Given the description of an element on the screen output the (x, y) to click on. 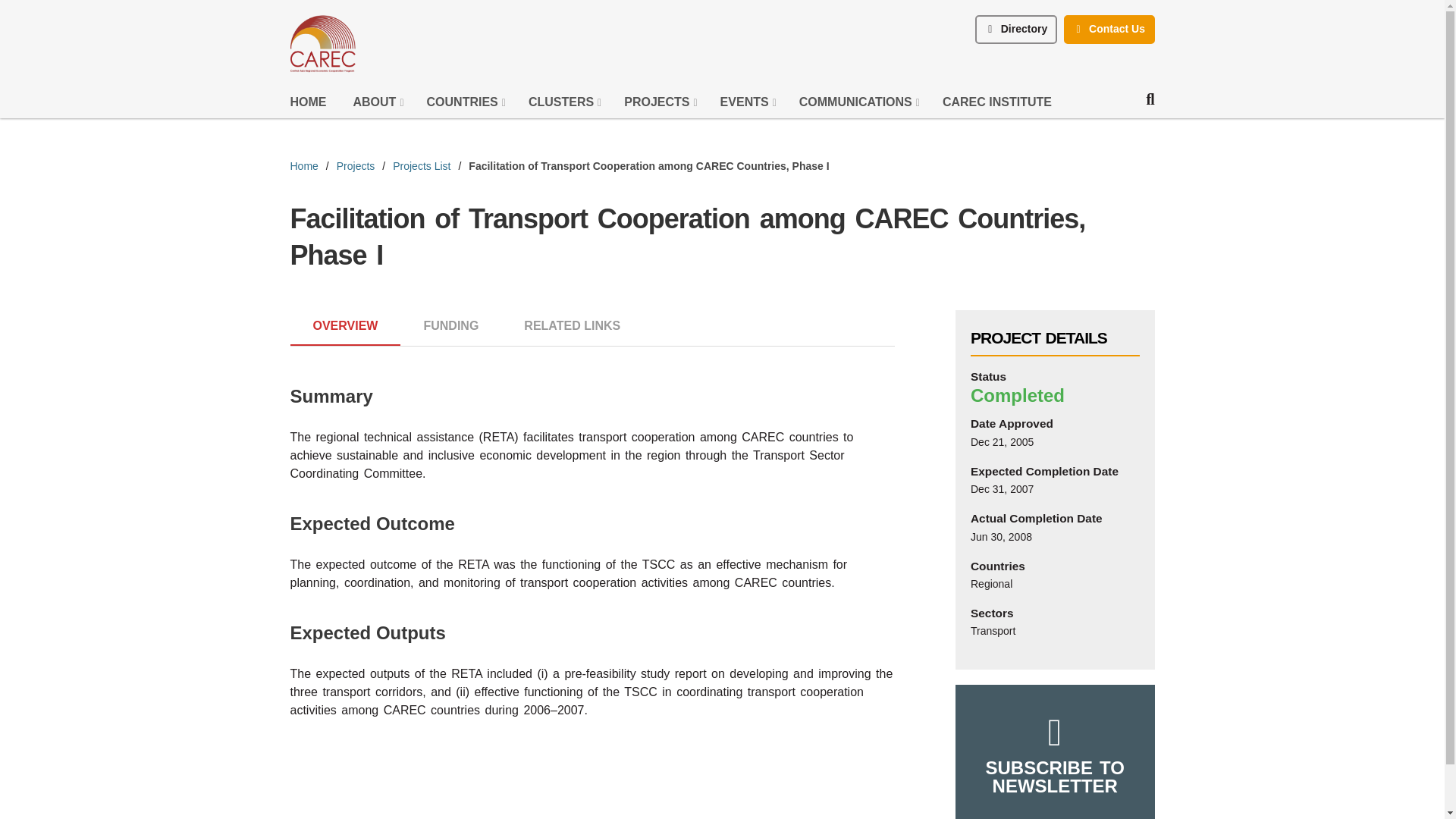
Home (309, 106)
Countries (465, 106)
HOME (309, 106)
About (378, 106)
Directory (1016, 29)
COUNTRIES (465, 106)
CLUSTERS (564, 106)
Contact Us (1109, 29)
ABOUT (378, 106)
